Given the description of an element on the screen output the (x, y) to click on. 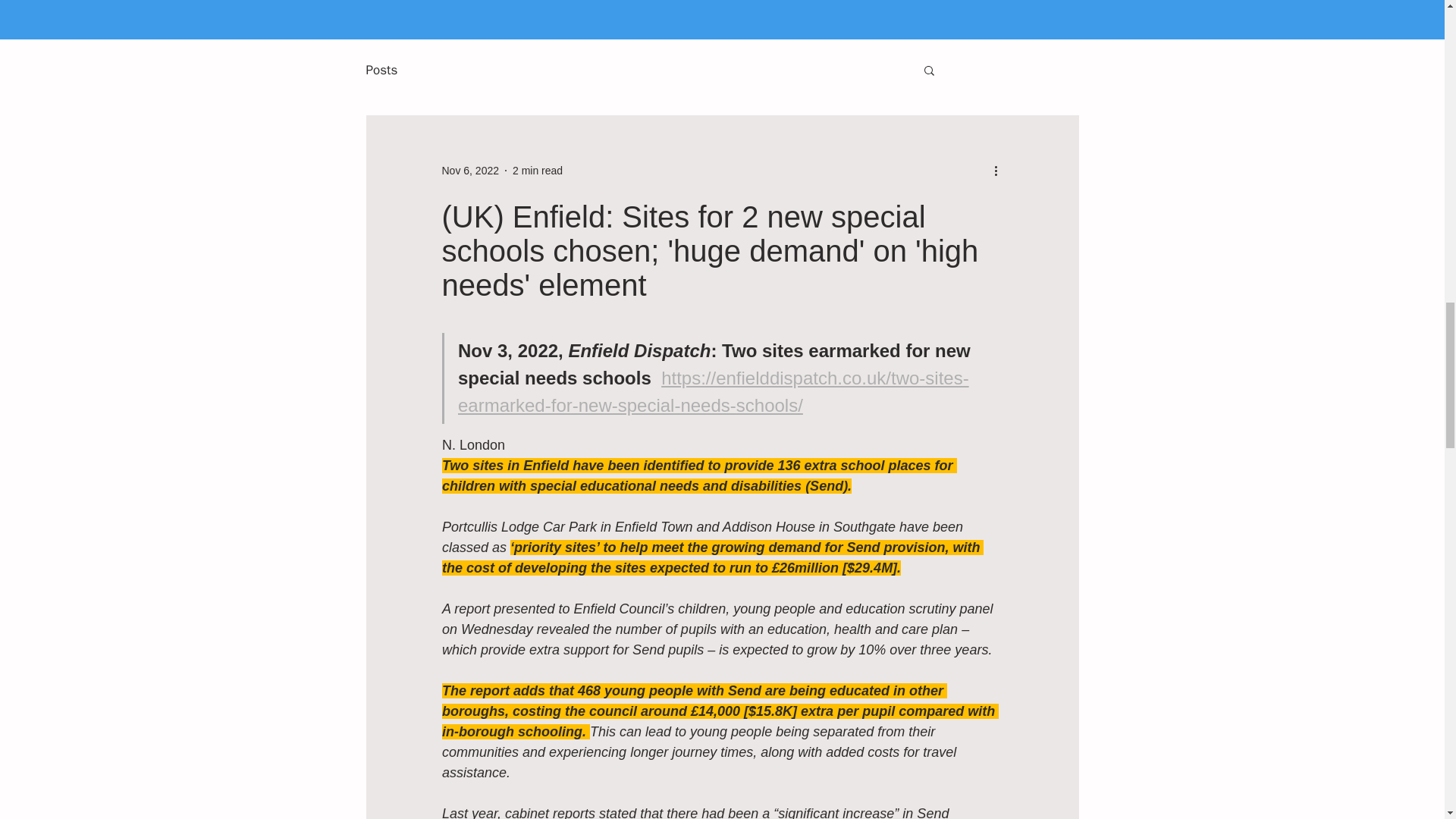
Posts (381, 68)
Nov 6, 2022 (470, 169)
2 min read (537, 169)
